Given the description of an element on the screen output the (x, y) to click on. 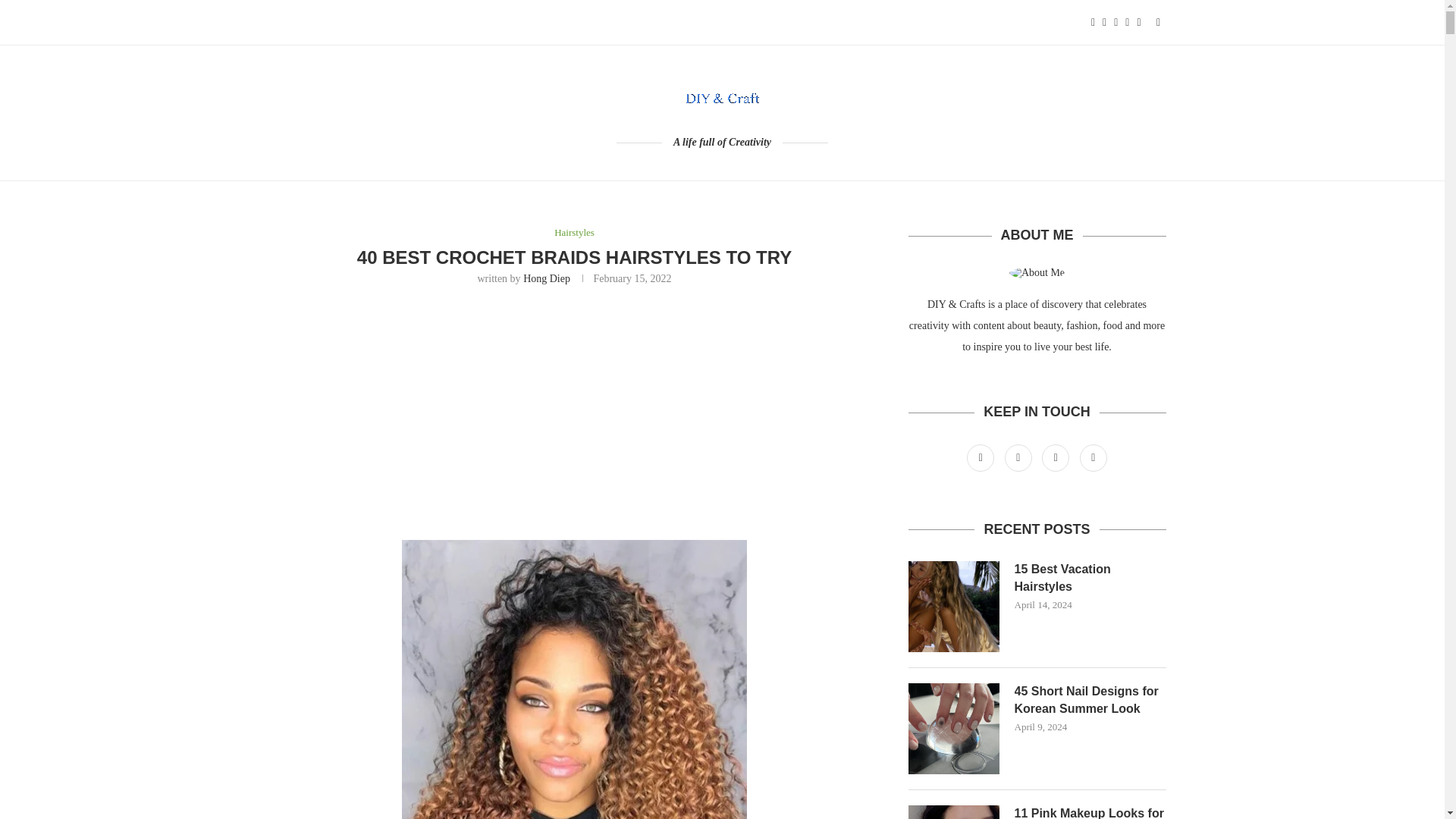
Hong Diep (546, 278)
Advertisement (574, 410)
Hairstyles (574, 232)
Crochet Braids Curly 1 (573, 679)
